Given the description of an element on the screen output the (x, y) to click on. 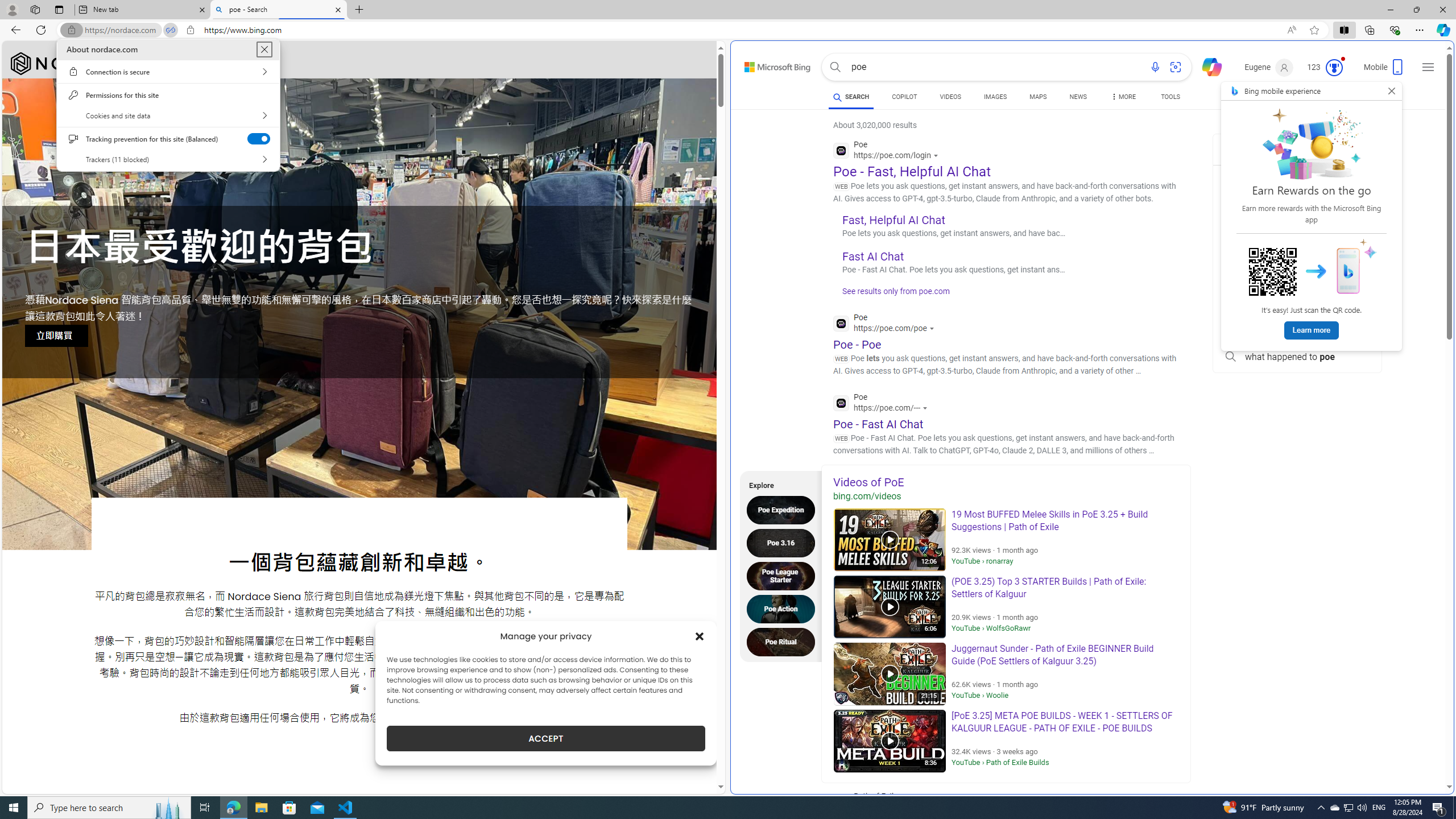
Search more (1423, 753)
Show desktop (1454, 807)
poes meaning (1297, 203)
Visual Studio Code - 1 running window (345, 807)
Microsoft Edge - 1 running window (233, 807)
Poe Action (783, 608)
poe chat (1297, 229)
Poe League Starter (783, 575)
Cookies and site data (167, 114)
NEWS (1078, 98)
MAPS (1038, 98)
Poe - Fast AI Chat (877, 423)
